Given the description of an element on the screen output the (x, y) to click on. 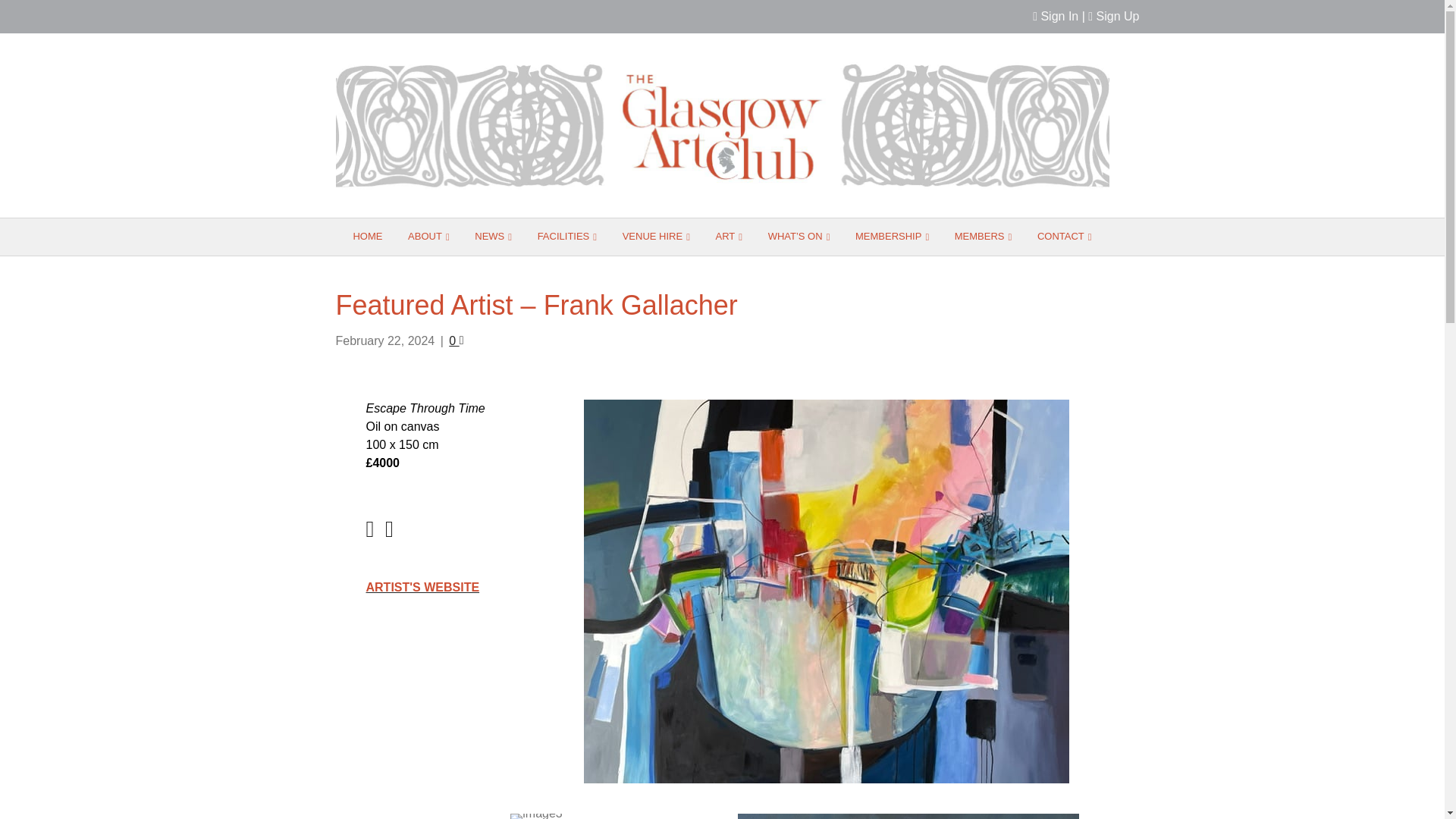
image3 (536, 816)
image1 (907, 816)
